Given the description of an element on the screen output the (x, y) to click on. 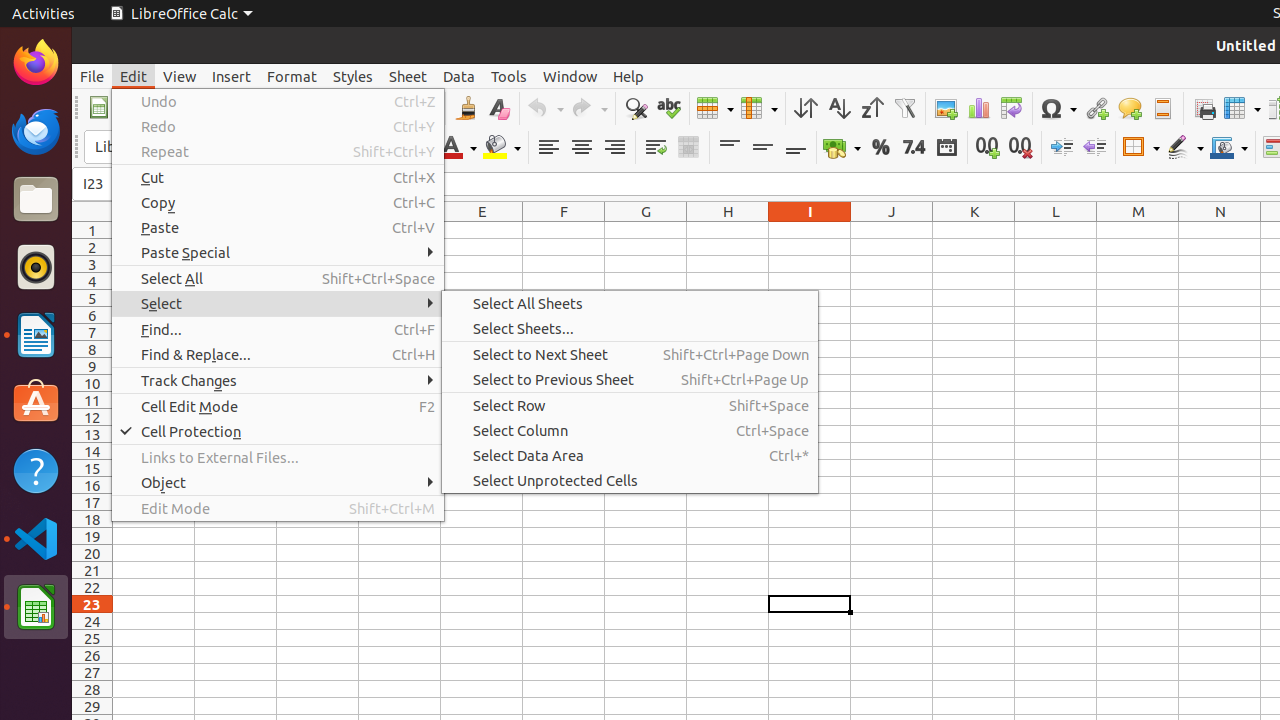
Activities Element type: label (43, 13)
Image Element type: push-button (945, 108)
Row Element type: push-button (715, 108)
Select Row Element type: menu-item (630, 405)
